Given the description of an element on the screen output the (x, y) to click on. 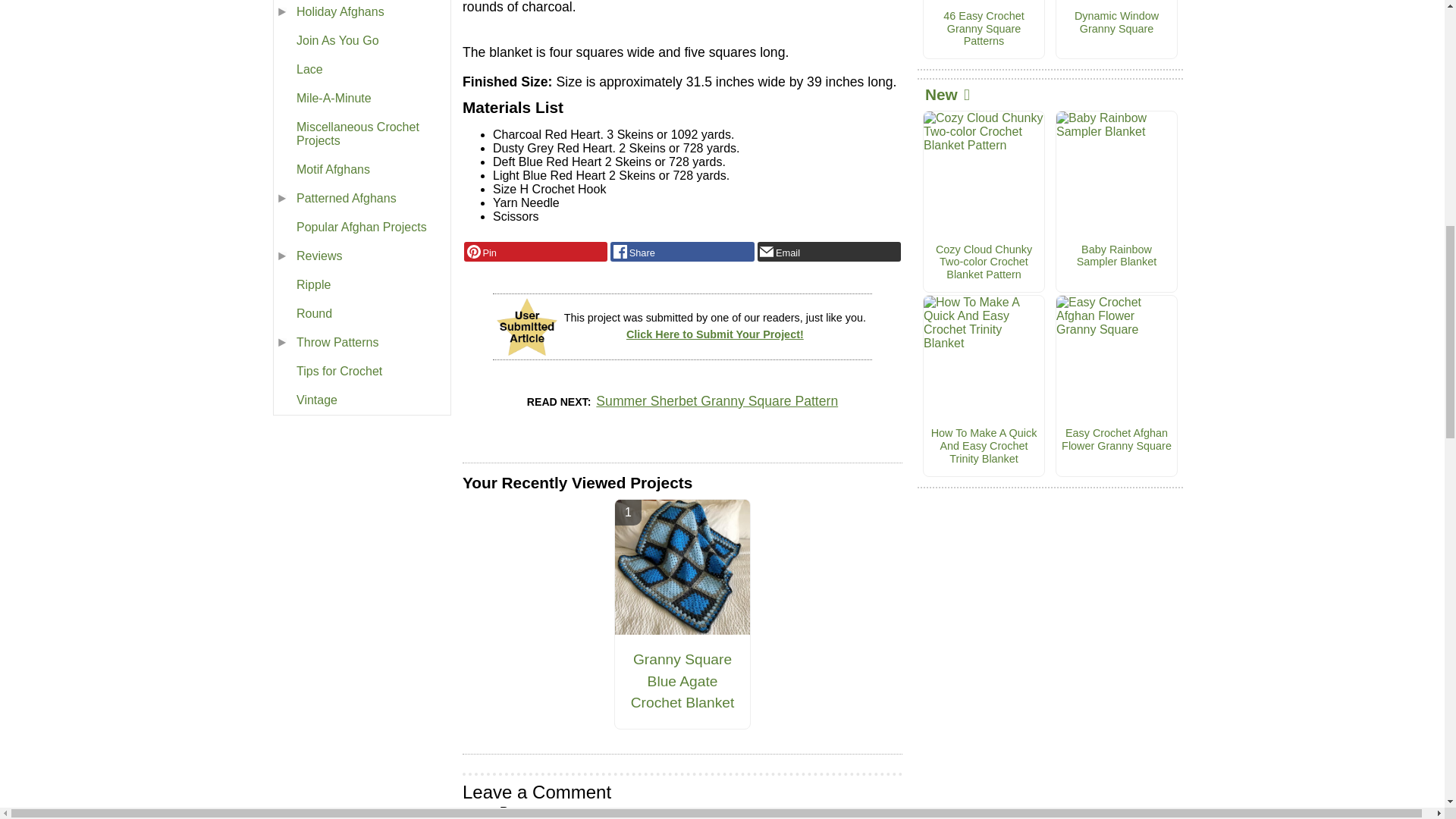
Email (829, 251)
Facebook (682, 251)
